Given the description of an element on the screen output the (x, y) to click on. 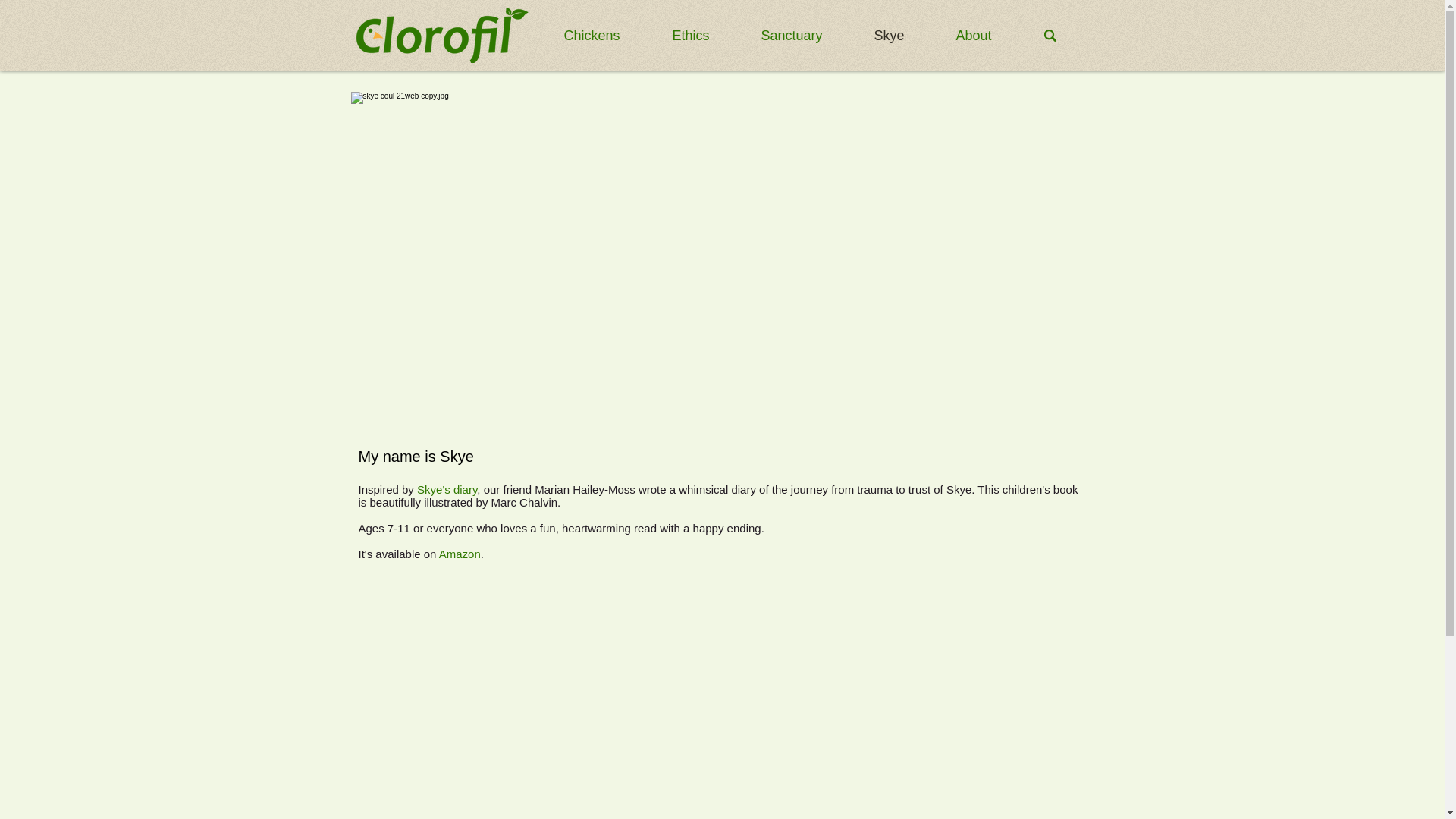
Ethics (705, 35)
Skye's diary (446, 489)
Sanctuary (805, 35)
About (988, 35)
Chickens (606, 35)
Skye (903, 35)
Amazon (459, 553)
